Given the description of an element on the screen output the (x, y) to click on. 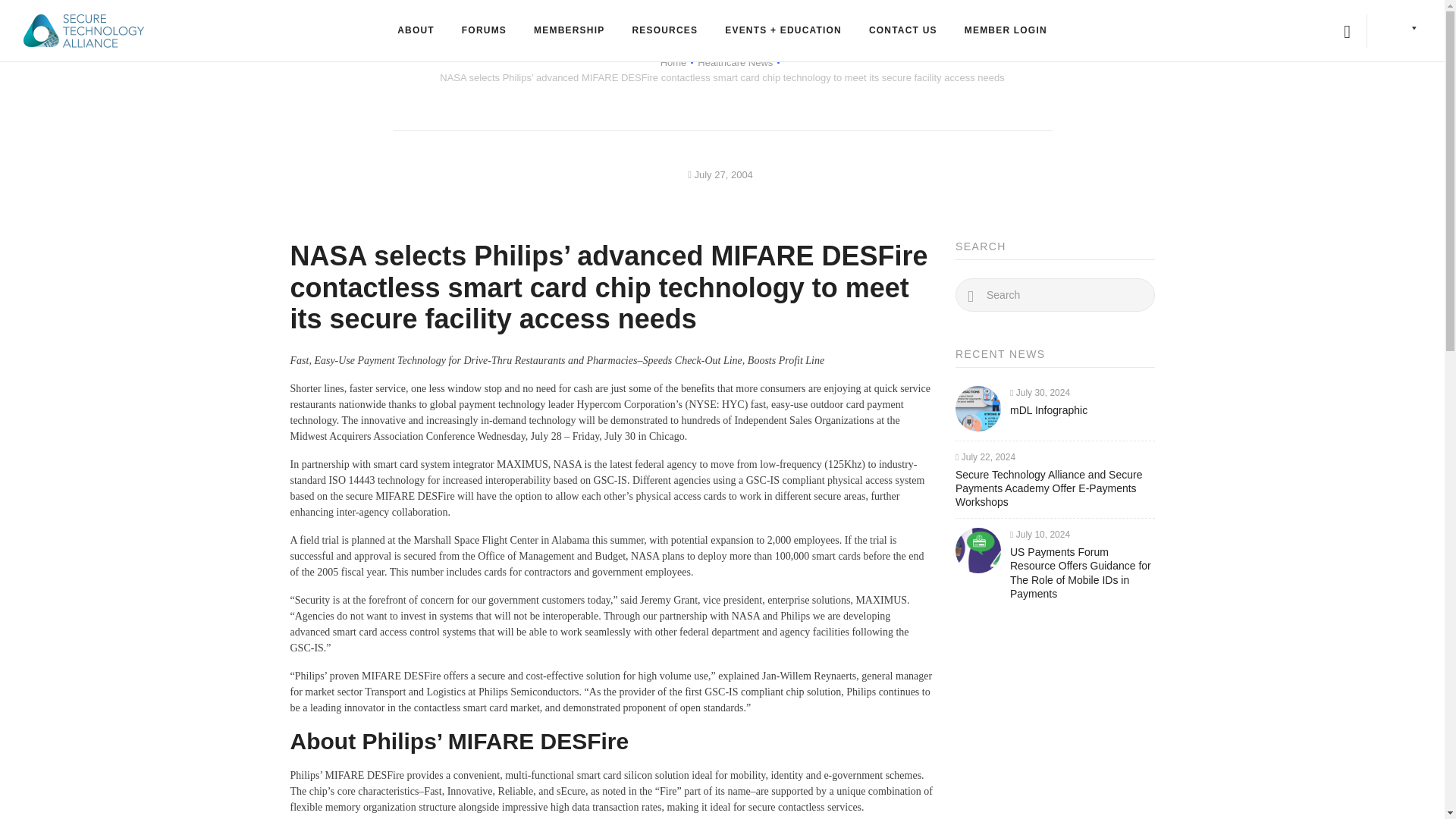
Go to the Healthcare News category archives. (735, 61)
Go to Secure Technology Alliance. (674, 61)
